Given the description of an element on the screen output the (x, y) to click on. 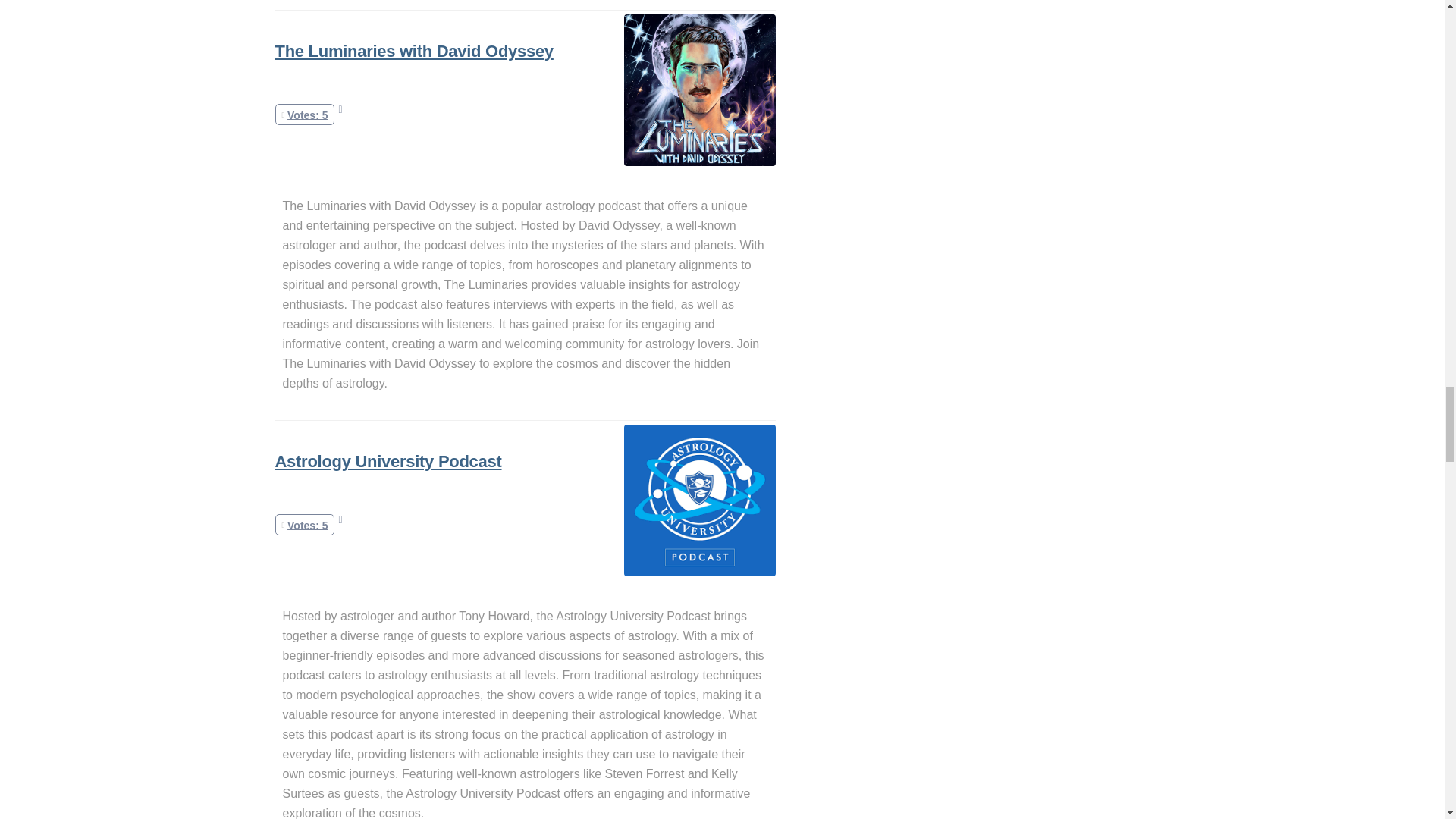
Votes: 5 (305, 114)
Astrology University Podcast (387, 461)
The Luminaries with David Odyssey (414, 50)
Votes: 5 (305, 524)
